Given the description of an element on the screen output the (x, y) to click on. 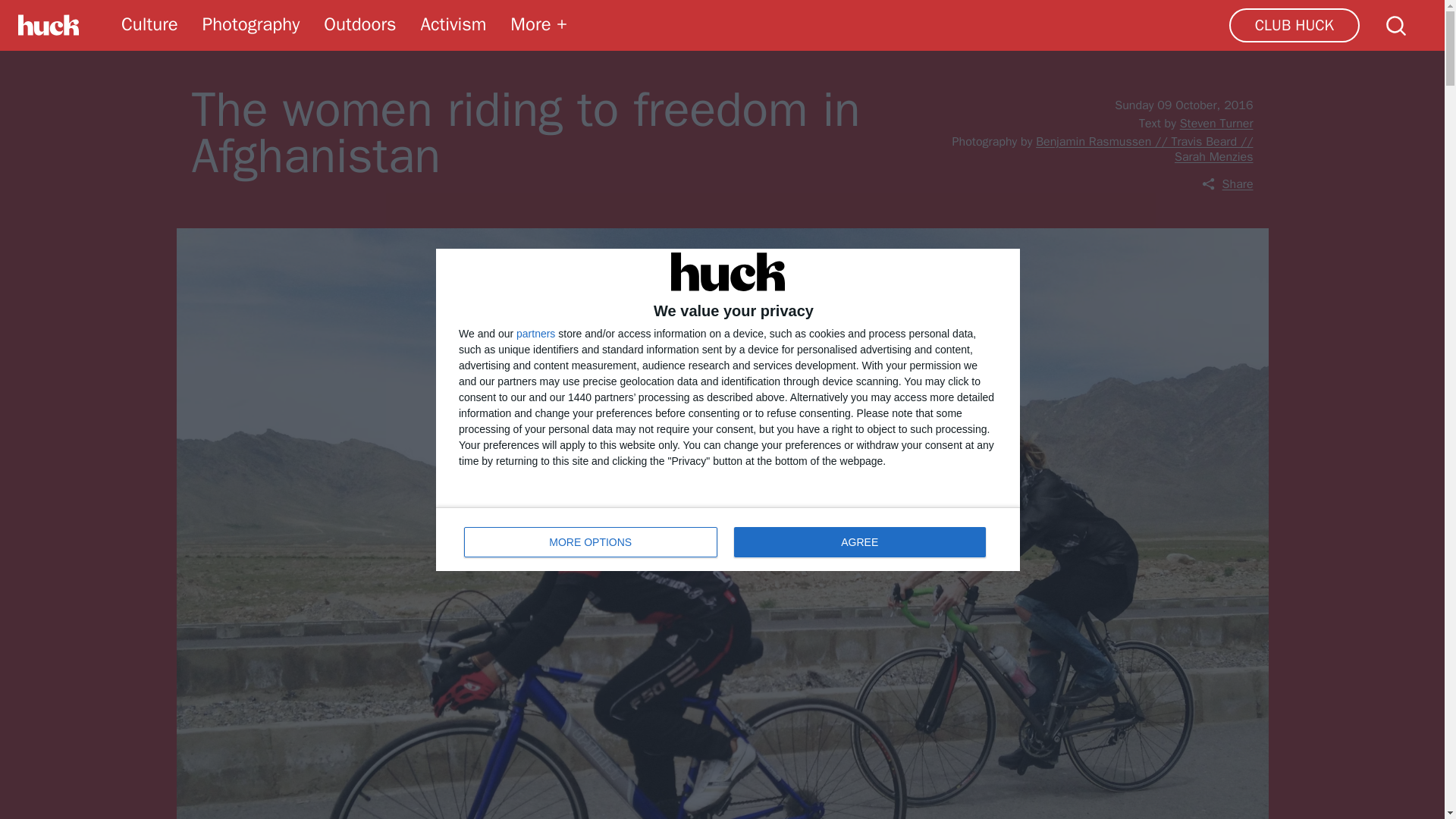
Share (1226, 183)
Activism (453, 24)
Huck (48, 25)
partners (535, 332)
Photography (250, 24)
MORE OPTIONS (590, 541)
Culture (148, 24)
CLUB HUCK (1293, 25)
More (540, 24)
Outdoors (359, 24)
Steven Turner (727, 538)
AGREE (1216, 123)
